Given the description of an element on the screen output the (x, y) to click on. 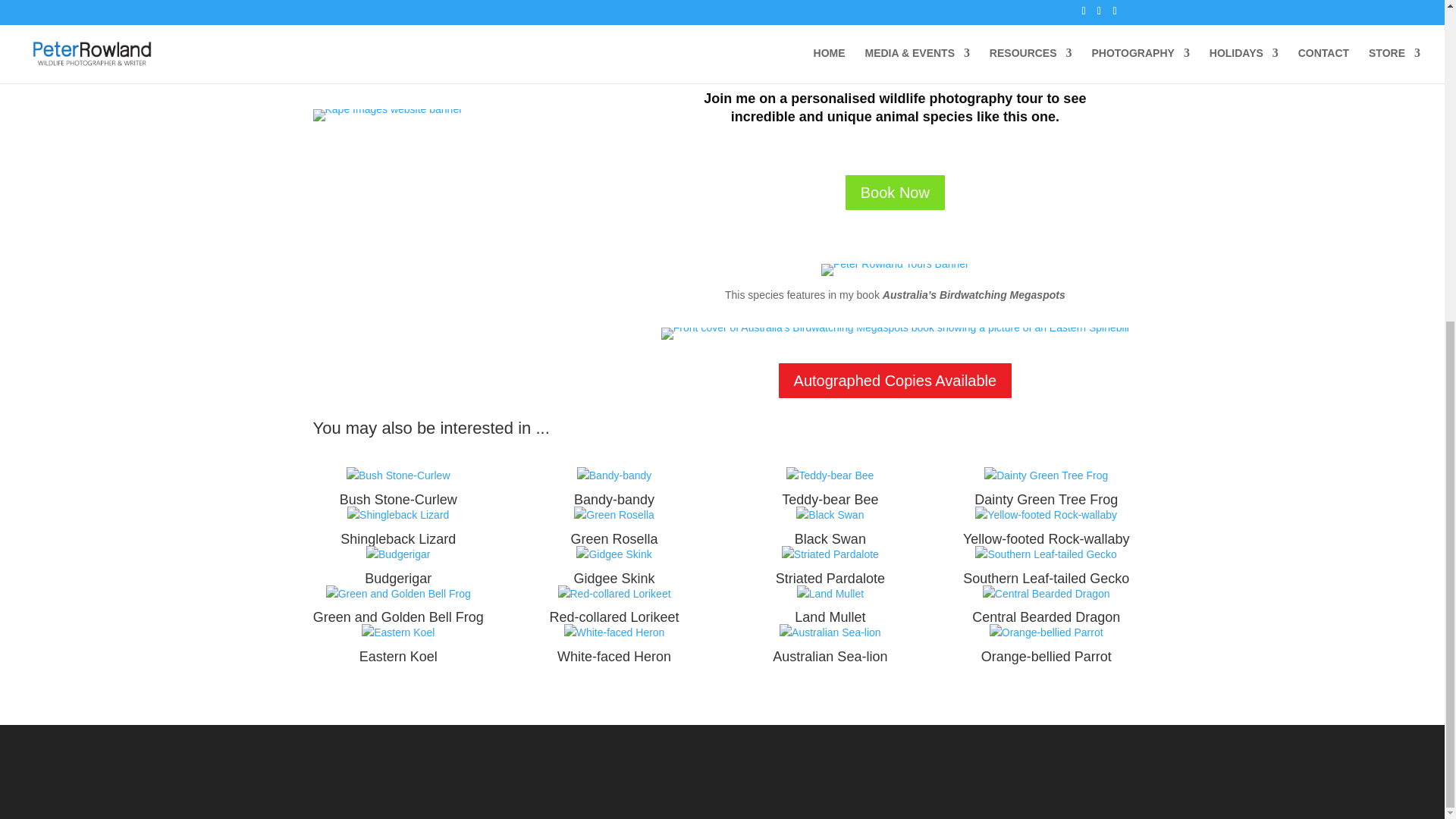
Green Rosella (614, 539)
Dainty Green Tree Frog (1045, 475)
Kape Banner - Image for Fact Sheets (387, 114)
Teddy-bear Bee (829, 499)
Bandy-bandy (613, 499)
Norfolk Island Green Parrot (462, 26)
Dainty Green Tree Frog (1046, 499)
Dainty Green Tree Frog (1046, 499)
Bandy-bandy (613, 475)
Shingleback Lizard (398, 515)
